Given the description of an element on the screen output the (x, y) to click on. 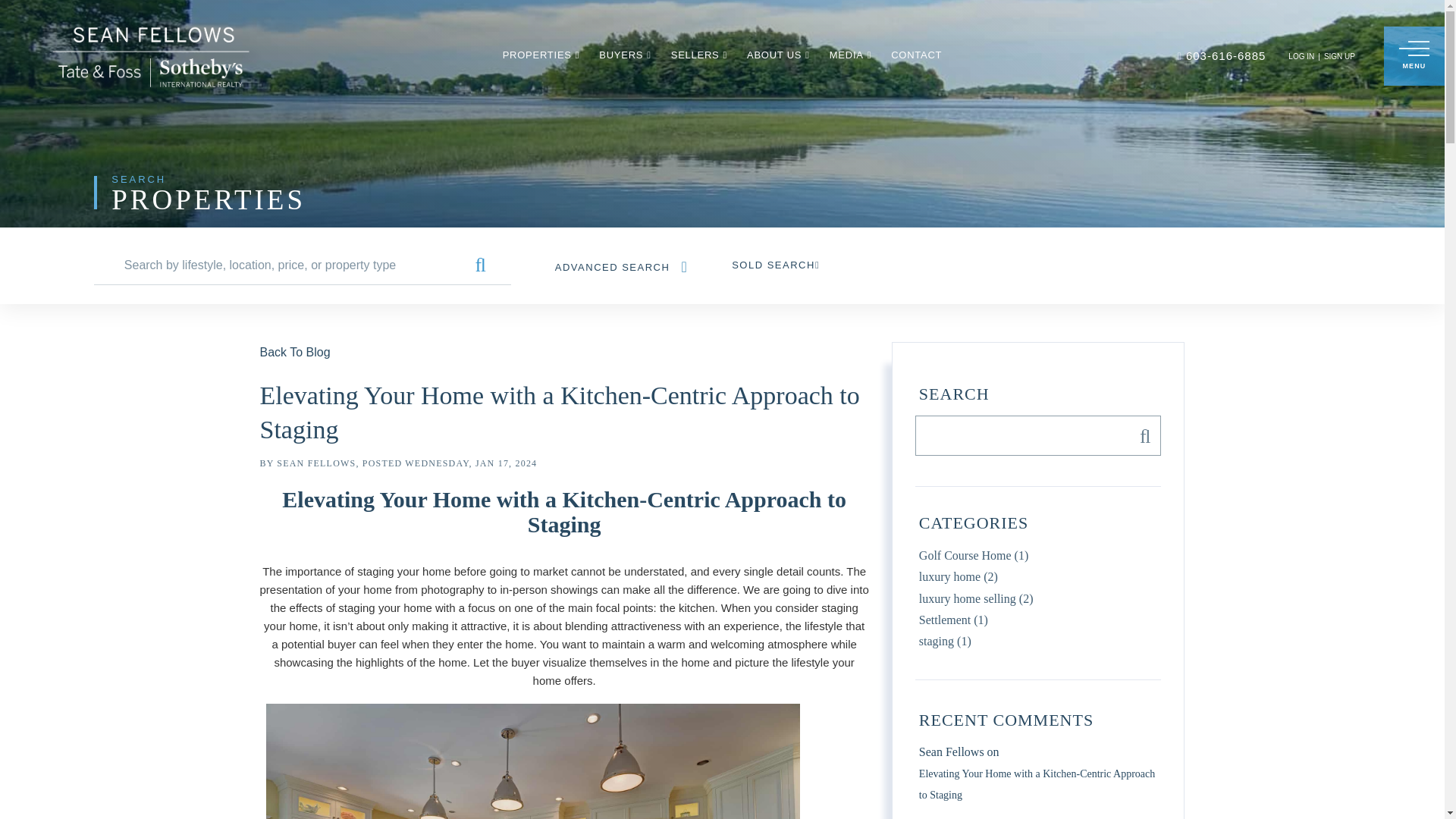
ABOUT US (777, 55)
PROPERTIES (540, 55)
Search (1140, 435)
BUYERS (624, 55)
SELLERS (698, 55)
CONTACT (916, 55)
MEDIA (849, 55)
